Given the description of an element on the screen output the (x, y) to click on. 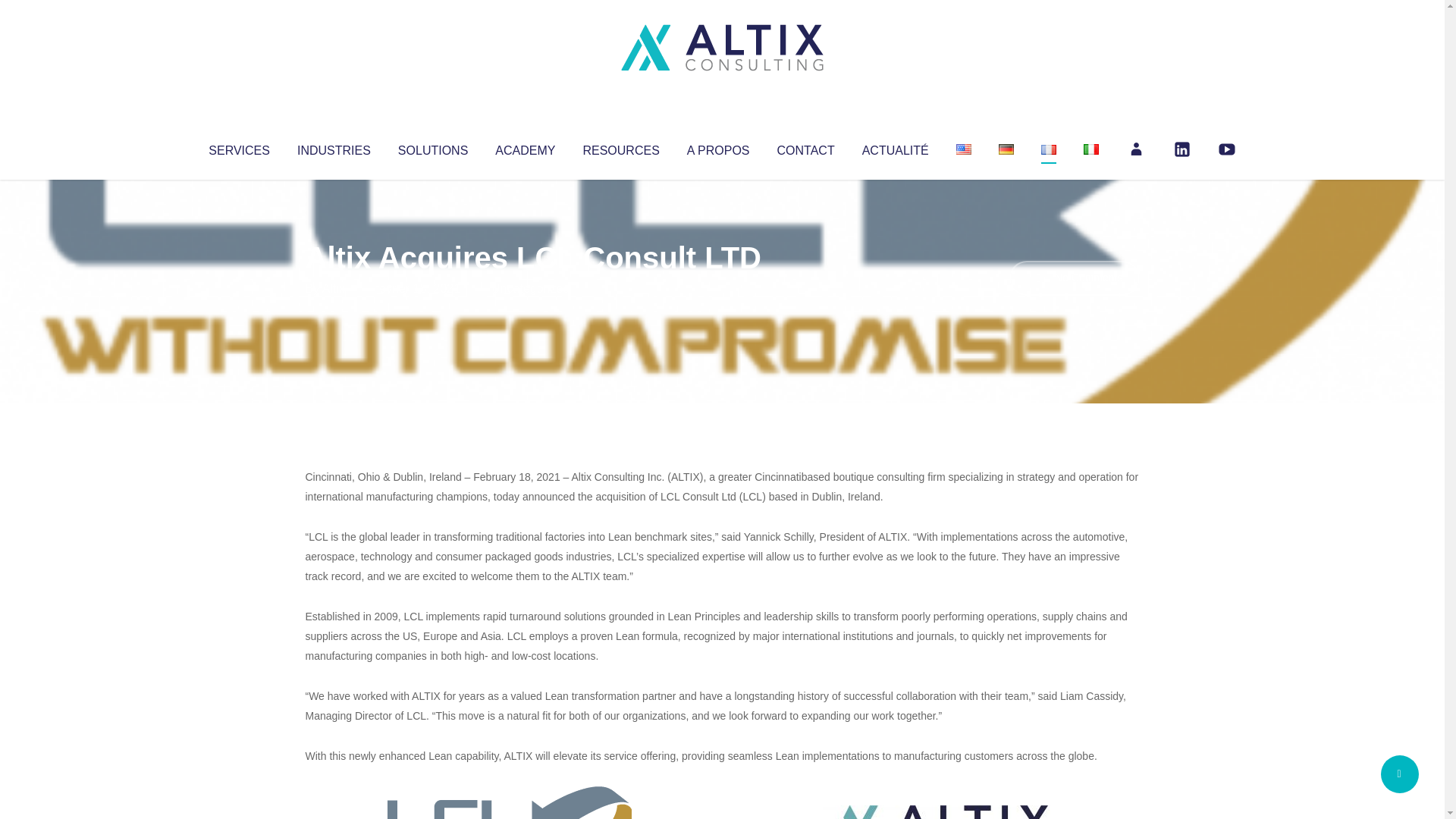
ACADEMY (524, 146)
SERVICES (238, 146)
No Comments (1073, 278)
Uncategorized (530, 287)
INDUSTRIES (334, 146)
RESOURCES (620, 146)
Articles par Altix (333, 287)
A PROPOS (718, 146)
SOLUTIONS (432, 146)
Altix (333, 287)
